Given the description of an element on the screen output the (x, y) to click on. 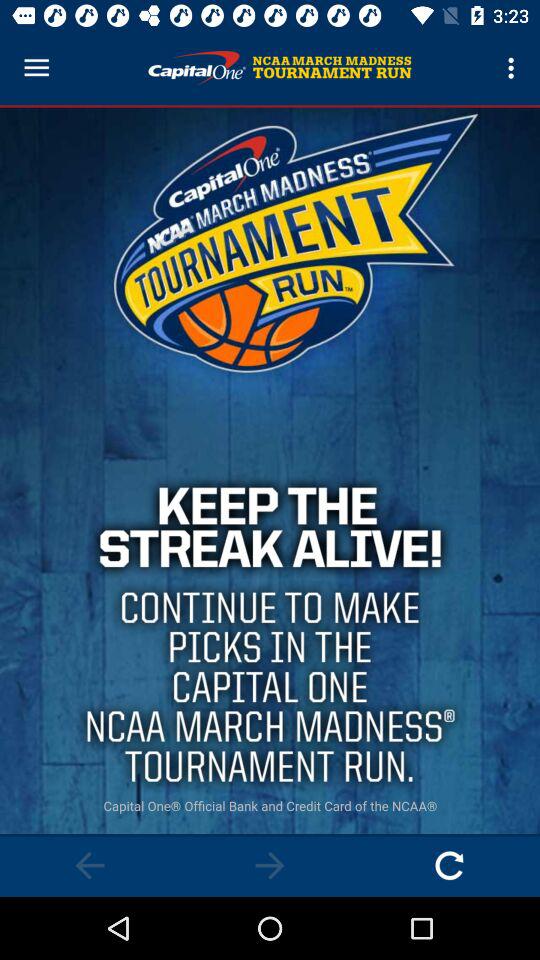
go back (89, 865)
